Given the description of an element on the screen output the (x, y) to click on. 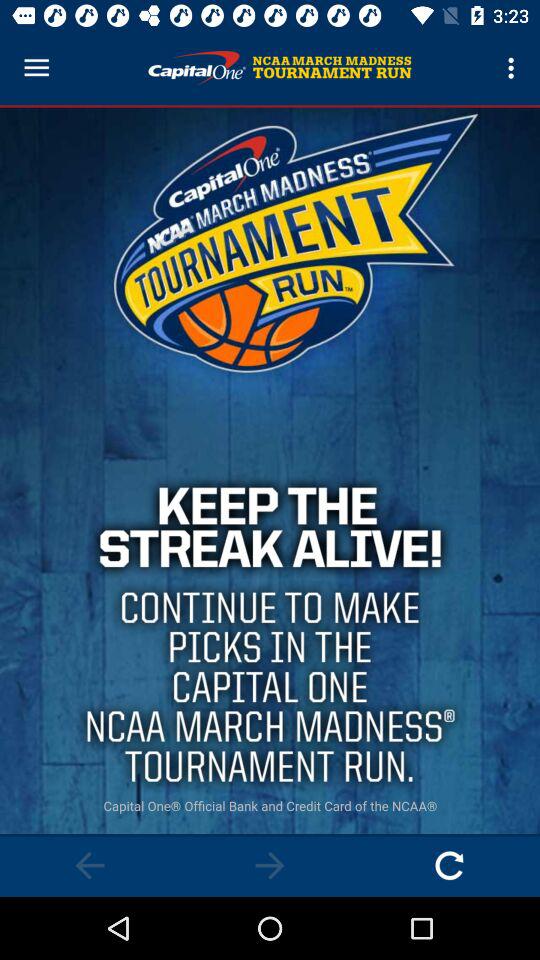
go back (89, 865)
